Given the description of an element on the screen output the (x, y) to click on. 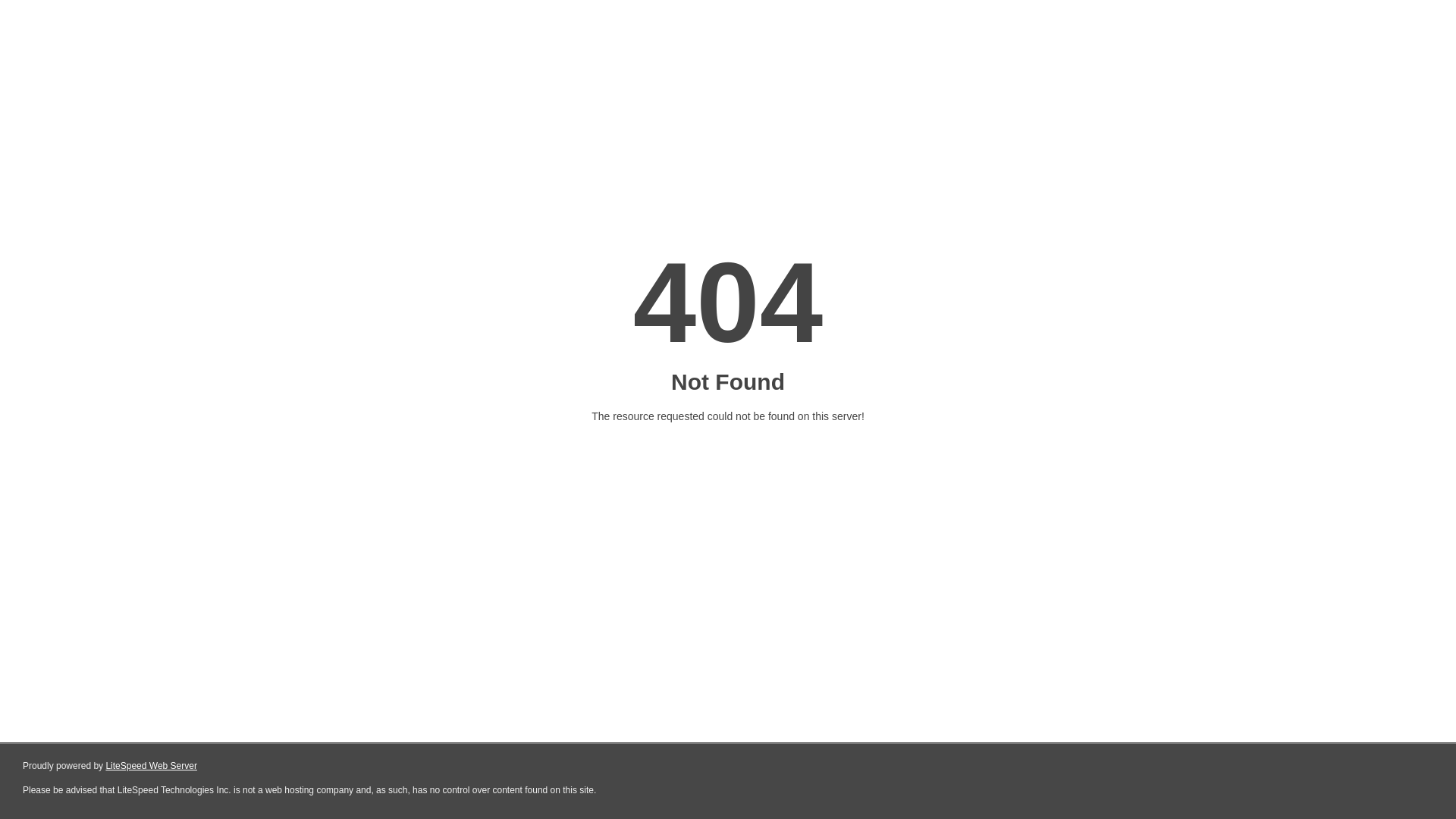
LiteSpeed Web Server Element type: text (151, 765)
